Given the description of an element on the screen output the (x, y) to click on. 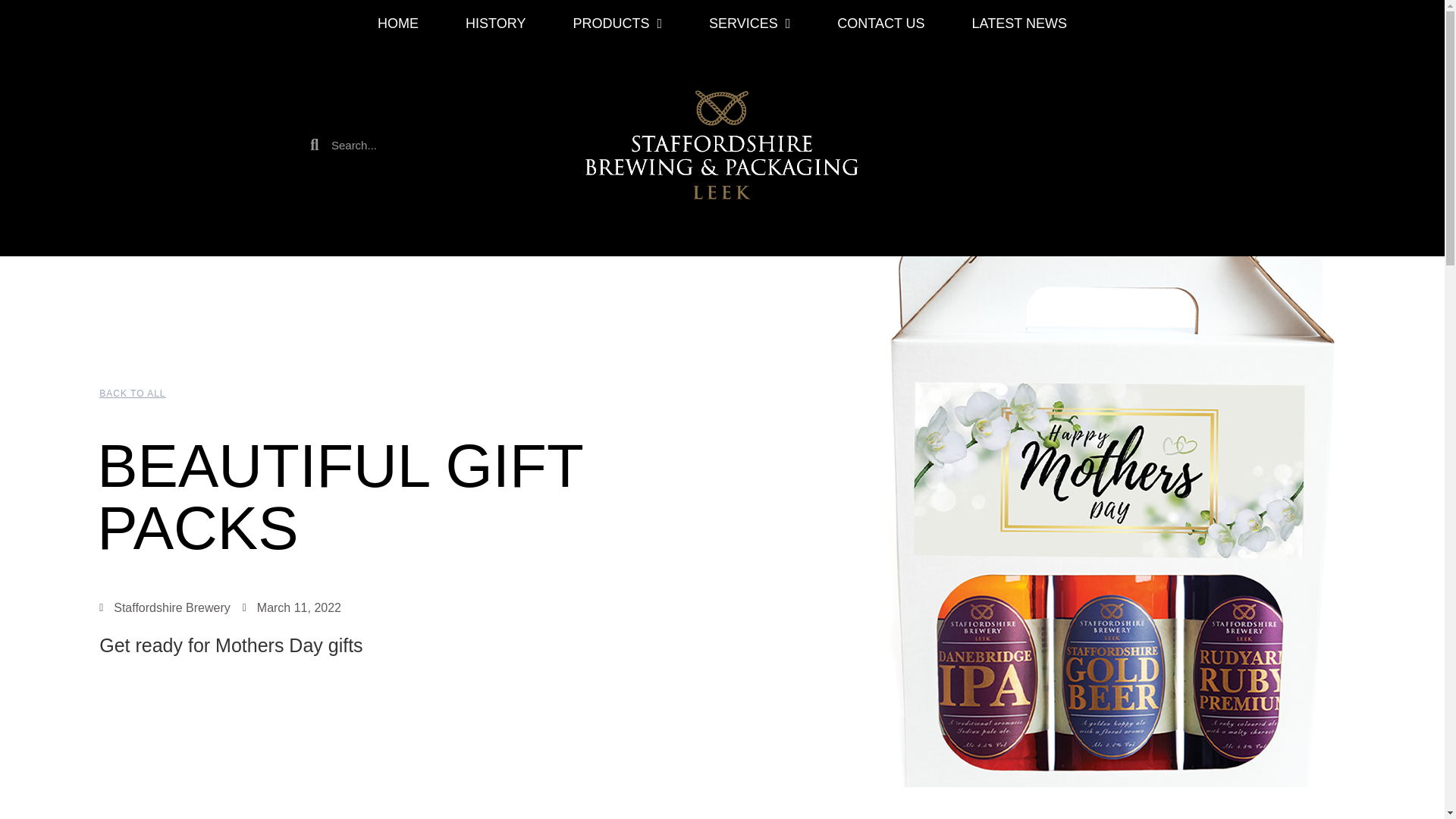
HOME (397, 23)
HISTORY (495, 23)
CONTACT US (880, 23)
LATEST NEWS (1019, 23)
SERVICES (749, 23)
PRODUCTS (616, 23)
BACK TO ALL (132, 393)
